Given the description of an element on the screen output the (x, y) to click on. 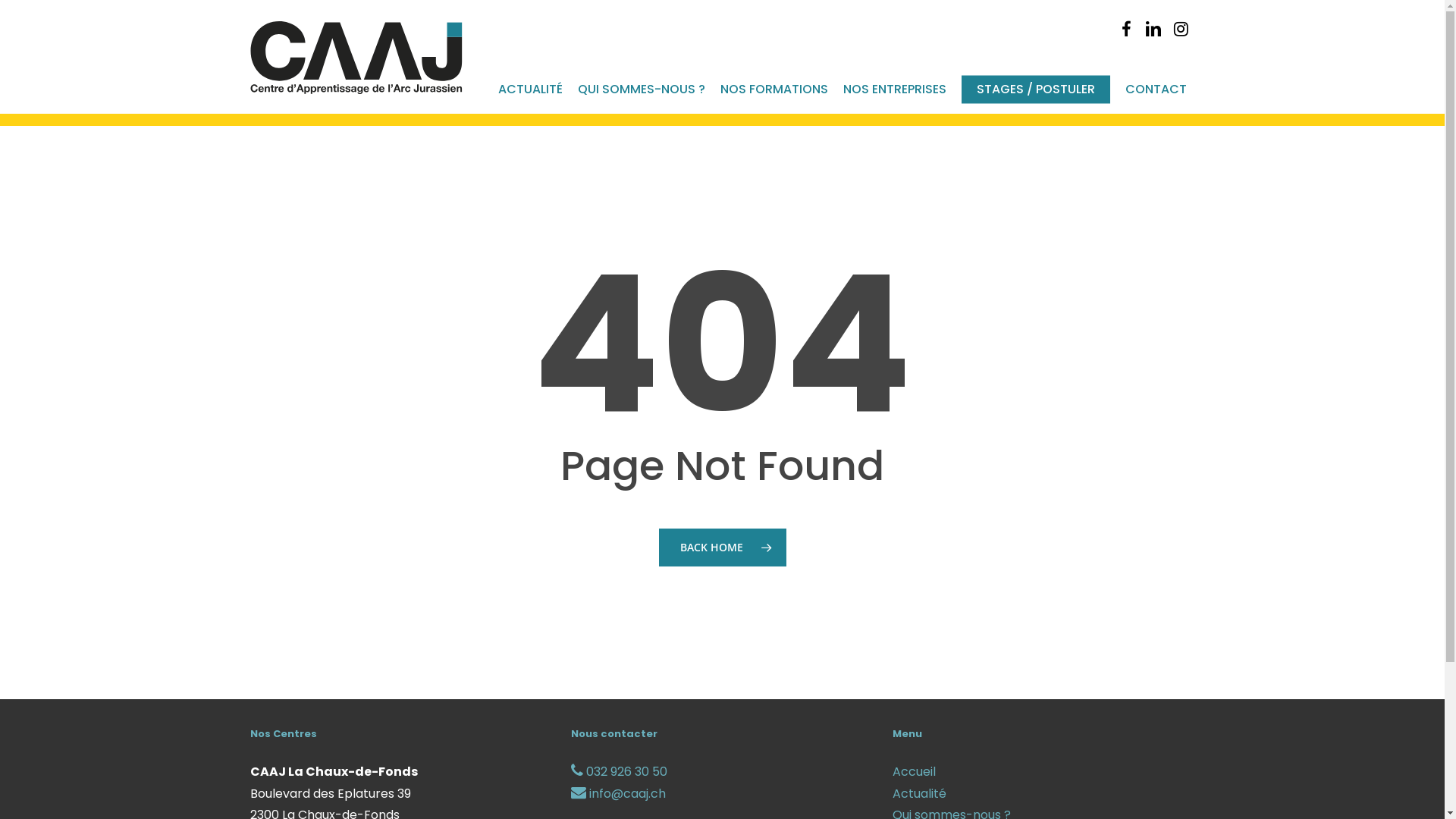
NOS FORMATIONS Element type: text (773, 89)
BACK HOME Element type: text (721, 547)
STAGES / POSTULER Element type: text (1035, 89)
info@caaj.ch Element type: text (618, 793)
QUI SOMMES-NOUS ? Element type: text (641, 89)
CONTACT Element type: text (1155, 89)
032 926 30 50 Element type: text (619, 771)
INSTAGRAM Element type: text (1180, 28)
FACEBOOK Element type: text (1125, 28)
LINKEDIN Element type: text (1153, 28)
Accueil Element type: text (1043, 772)
NOS ENTREPRISES Element type: text (894, 89)
